Given the description of an element on the screen output the (x, y) to click on. 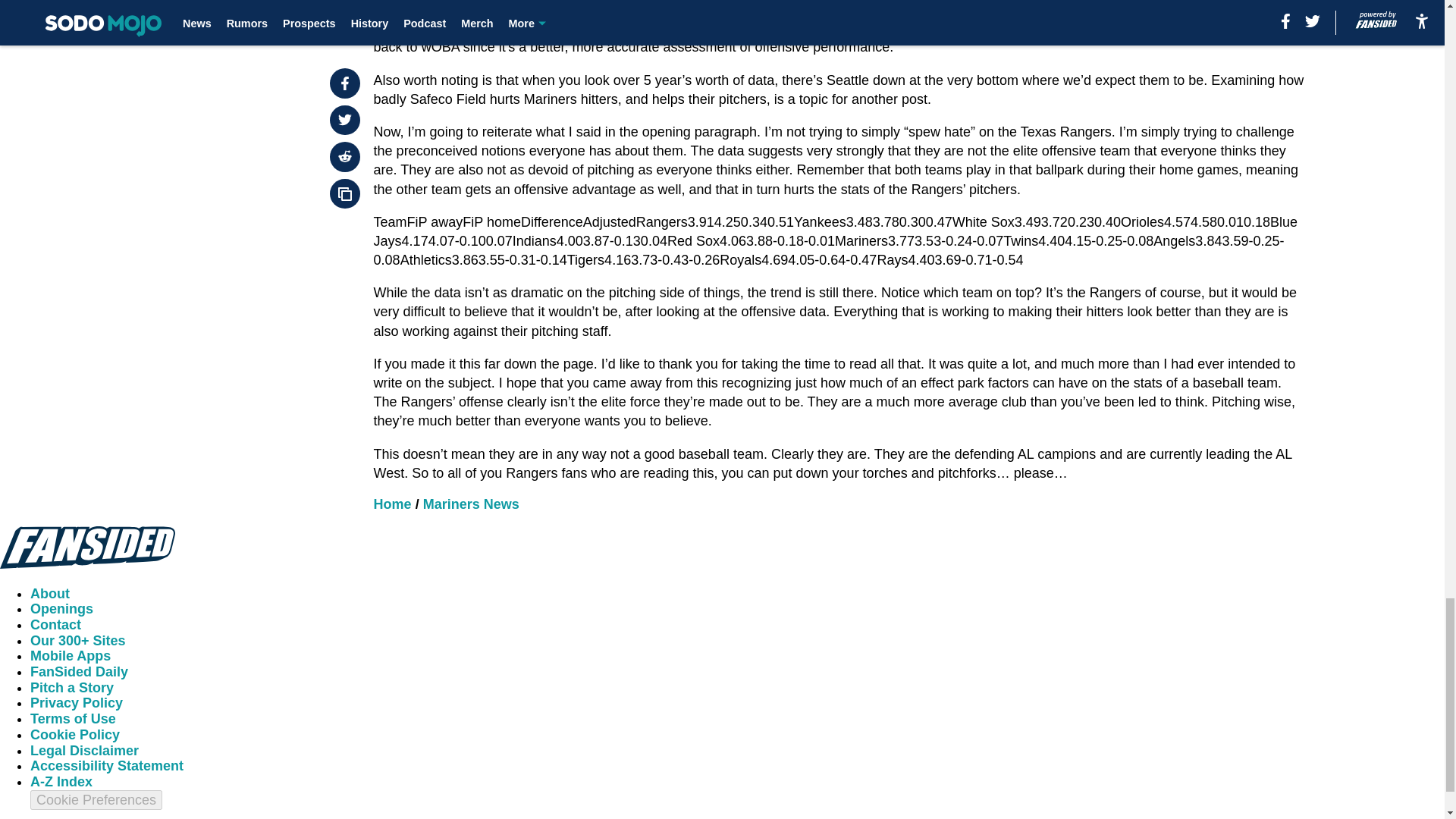
Openings (61, 608)
Home (393, 503)
Contact (55, 624)
Mobile Apps (70, 655)
Mariners News (471, 503)
About (49, 593)
